Given the description of an element on the screen output the (x, y) to click on. 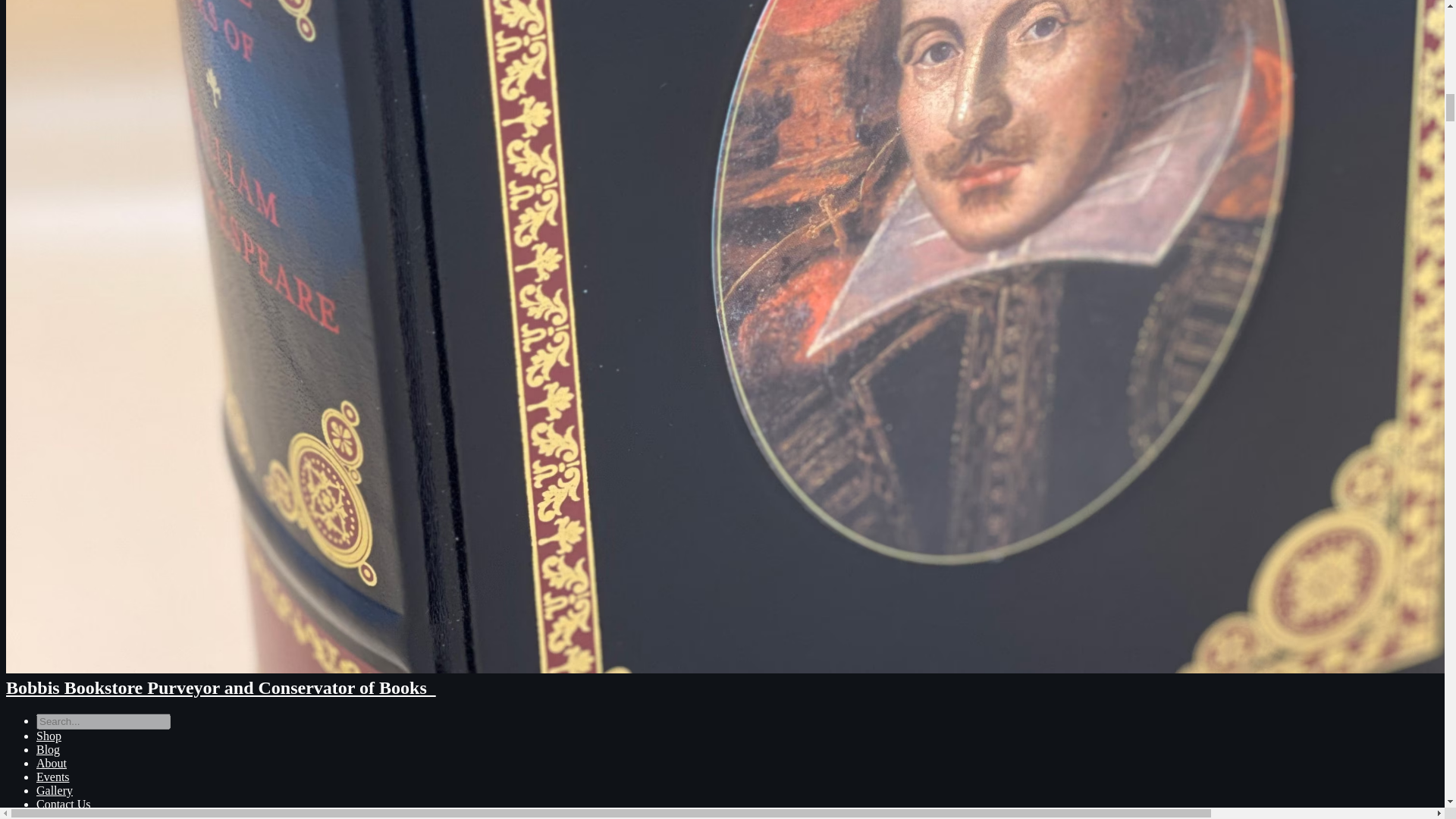
About (51, 762)
Shop (48, 735)
Gallery (54, 789)
Contact Us (63, 803)
Events (52, 776)
Blog (47, 748)
